Given the description of an element on the screen output the (x, y) to click on. 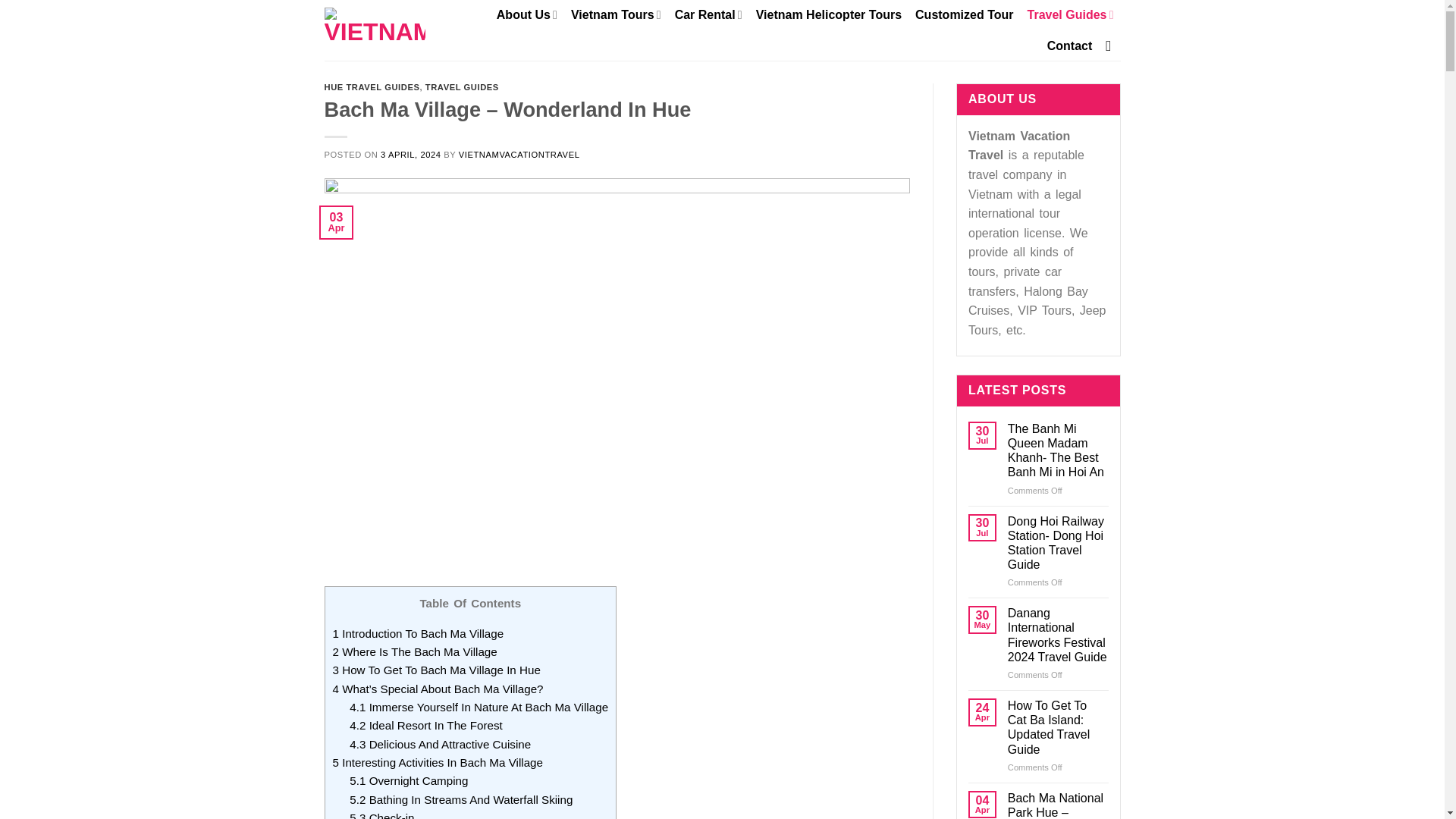
About Us (526, 14)
Car Rental (708, 14)
The Banh Mi Queen Madam Khanh- The Best Banh Mi in Hoi An (1057, 450)
Customized Tour (964, 14)
Vietnam Helicopter Tours (828, 14)
Danang International Fireworks Festival 2024 Travel Guide (1057, 635)
Vietnam Tours (615, 14)
Dong Hoi Railway Station- Dong Hoi Station Travel Guide (1057, 543)
How To Get To Cat Ba Island: Updated Travel Guide (1057, 727)
